Given the description of an element on the screen output the (x, y) to click on. 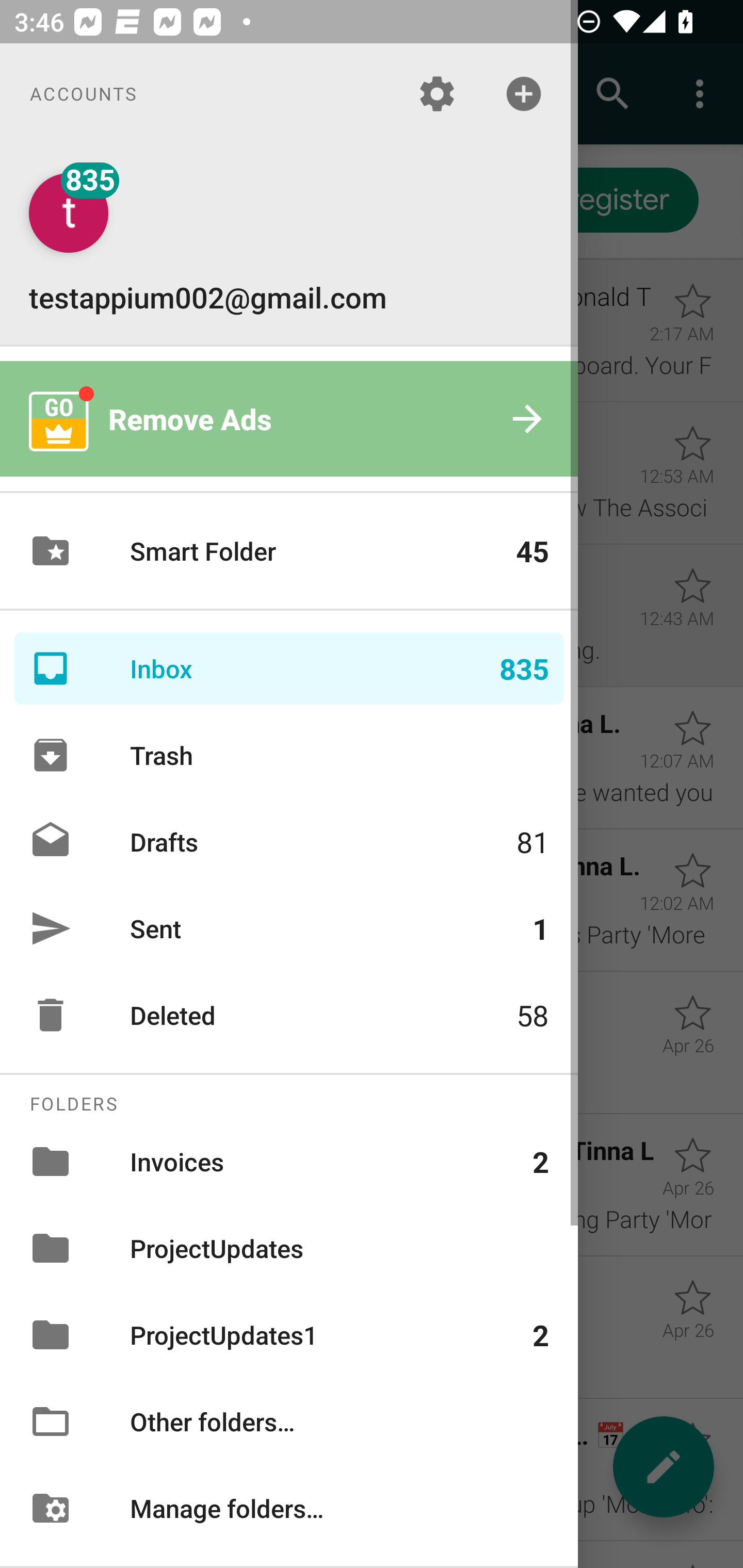
testappium002@gmail.com (289, 244)
Remove Ads (289, 418)
Smart Folder 45 (289, 551)
Inbox 835 (289, 668)
Trash (289, 754)
Drafts 81 (289, 841)
Sent 1 (289, 928)
Deleted 58 (289, 1015)
Invoices 2 (289, 1160)
ProjectUpdates (289, 1248)
ProjectUpdates1 2 (289, 1335)
Other folders… (289, 1421)
Manage folders… (289, 1507)
